Given the description of an element on the screen output the (x, y) to click on. 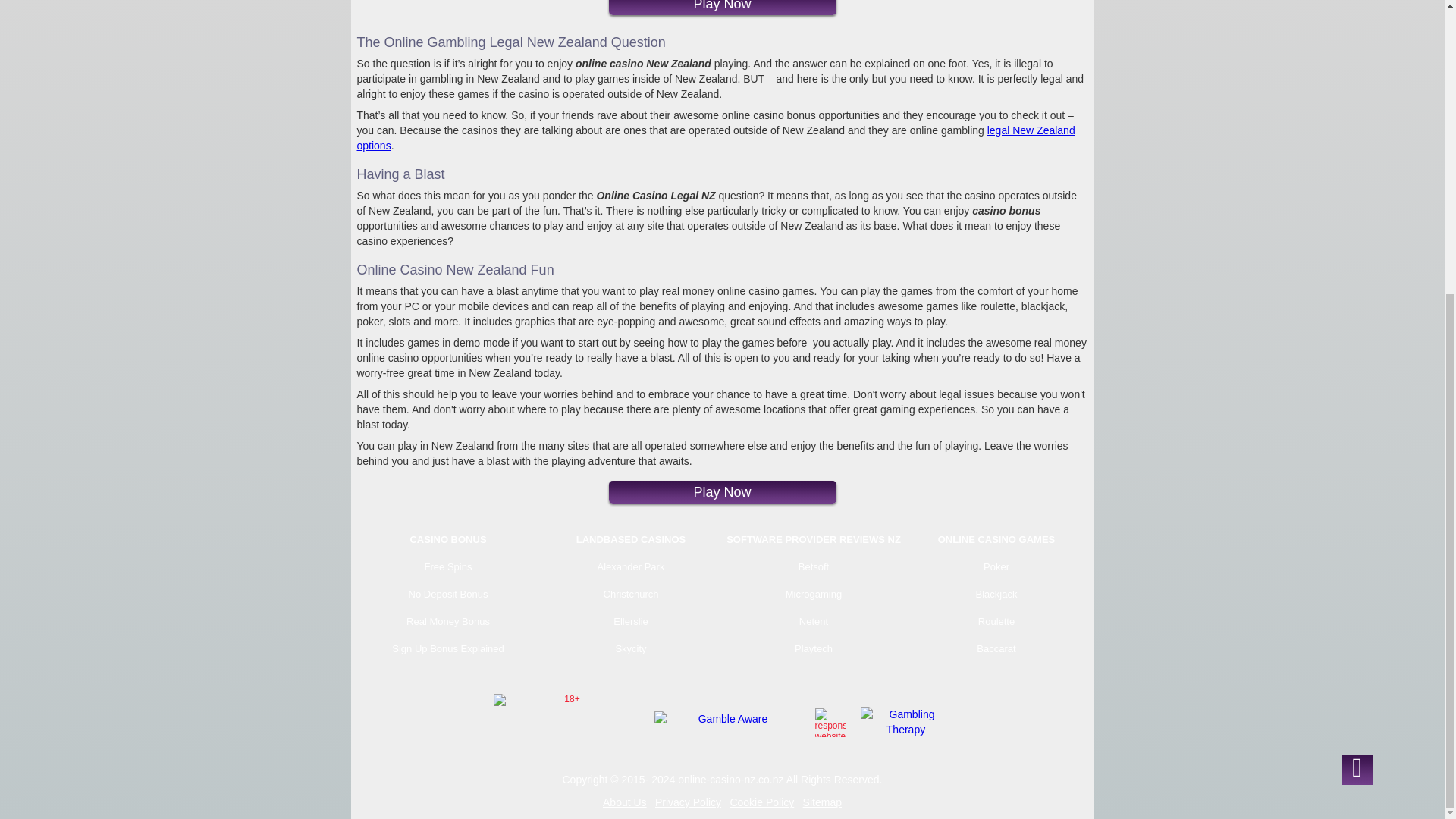
No Deposit Bonus (448, 598)
CASINO BONUS (447, 544)
legal New Zealand options (715, 137)
Play Now (721, 491)
Free Spins (448, 571)
Play Now (721, 7)
